Given the description of an element on the screen output the (x, y) to click on. 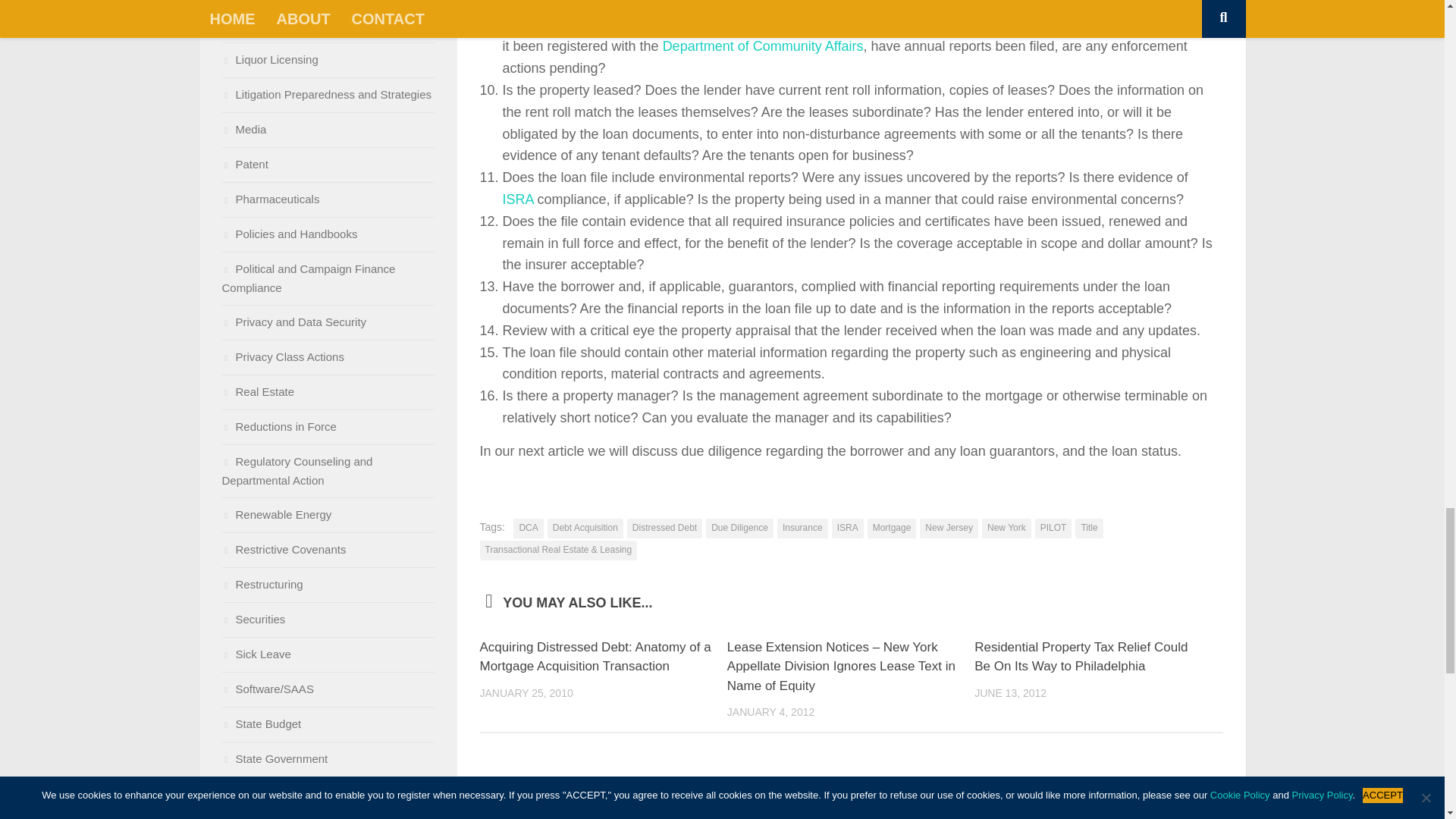
ISRA (847, 528)
Department of Community Affairs (762, 46)
DCA (528, 528)
New Jersey (949, 528)
Debt Acquisition (585, 528)
PILOT (1053, 528)
Mortgage (892, 528)
Insurance (802, 528)
ISRA (517, 199)
Title (1088, 528)
Due Diligence (739, 528)
